Given the description of an element on the screen output the (x, y) to click on. 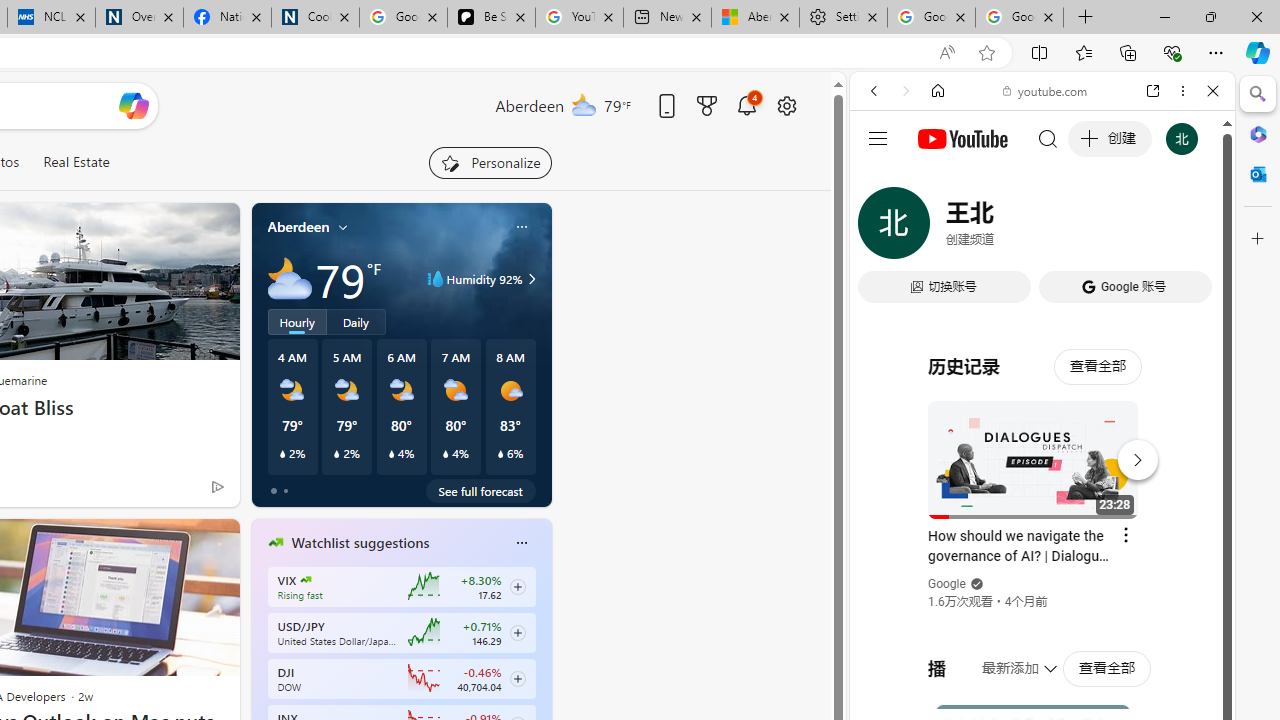
Hourly (296, 321)
Trailer #2 [HD] (1042, 592)
This story is trending (178, 490)
Class: weather-current-precipitation-glyph (500, 453)
Cookies (315, 17)
Search Filter, VIDEOS (1006, 228)
